Given the description of an element on the screen output the (x, y) to click on. 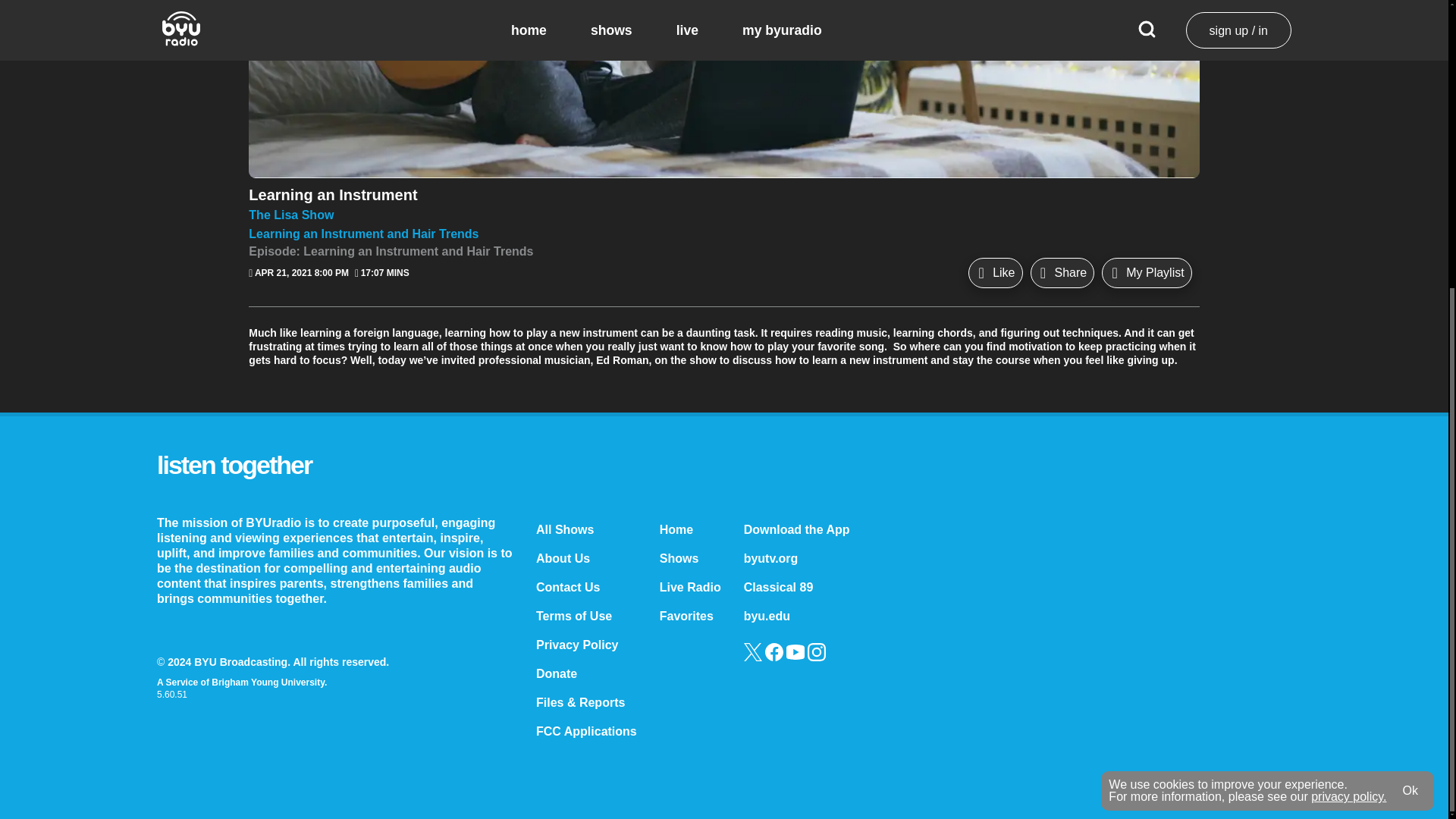
Terms of Use (573, 615)
FCC Applications (586, 730)
Share (1061, 272)
All Shows (564, 529)
Learning an Instrument and Hair Trends (723, 233)
Shows (678, 558)
Favorites (686, 615)
Donate (555, 673)
Contact Us (567, 586)
Classical 89 (778, 586)
